Given the description of an element on the screen output the (x, y) to click on. 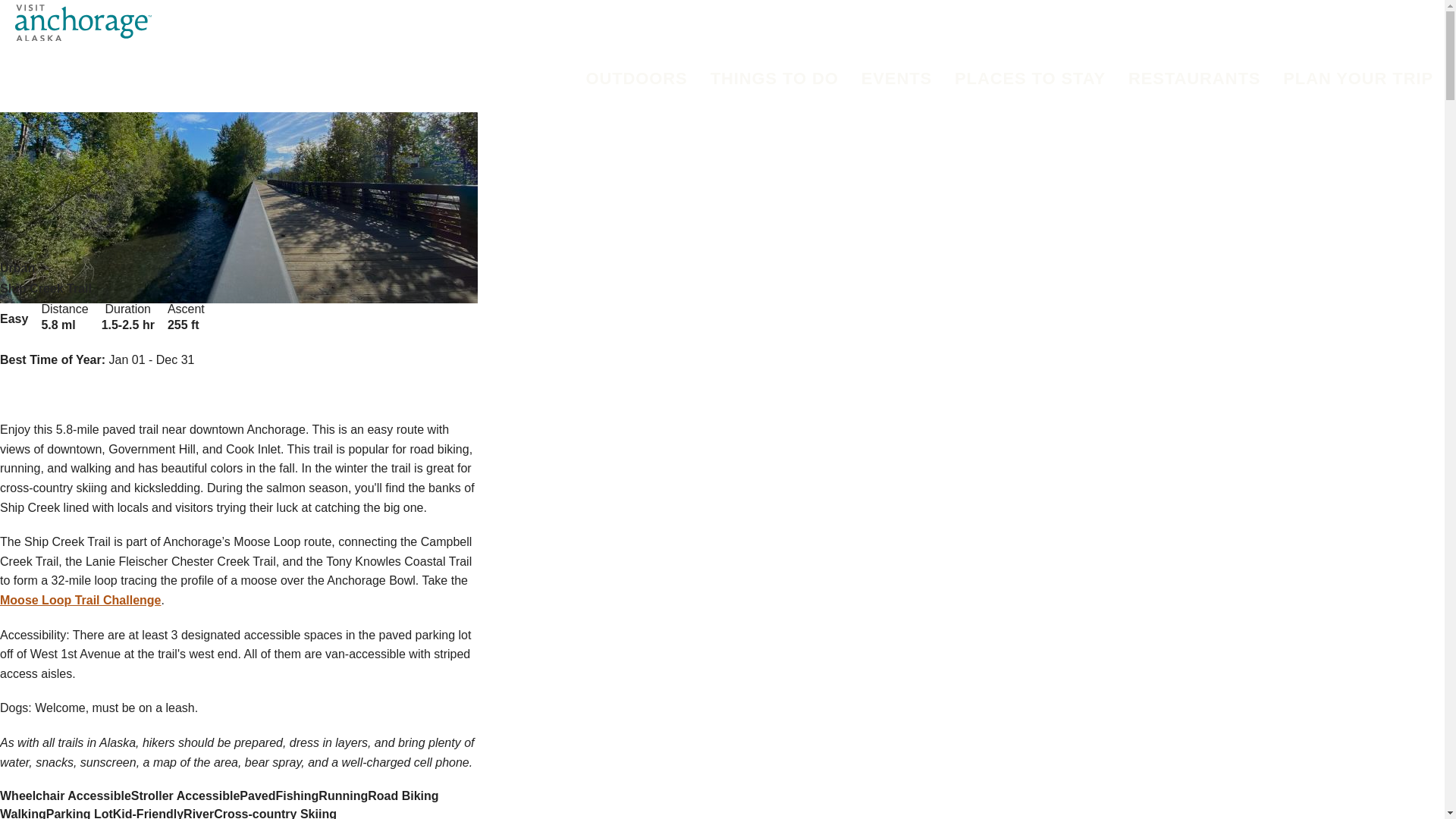
EVENTS (896, 78)
PLACES TO STAY (1029, 78)
THINGS TO DO (774, 78)
OUTDOORS (636, 78)
RESTAURANTS (1193, 78)
